Given the description of an element on the screen output the (x, y) to click on. 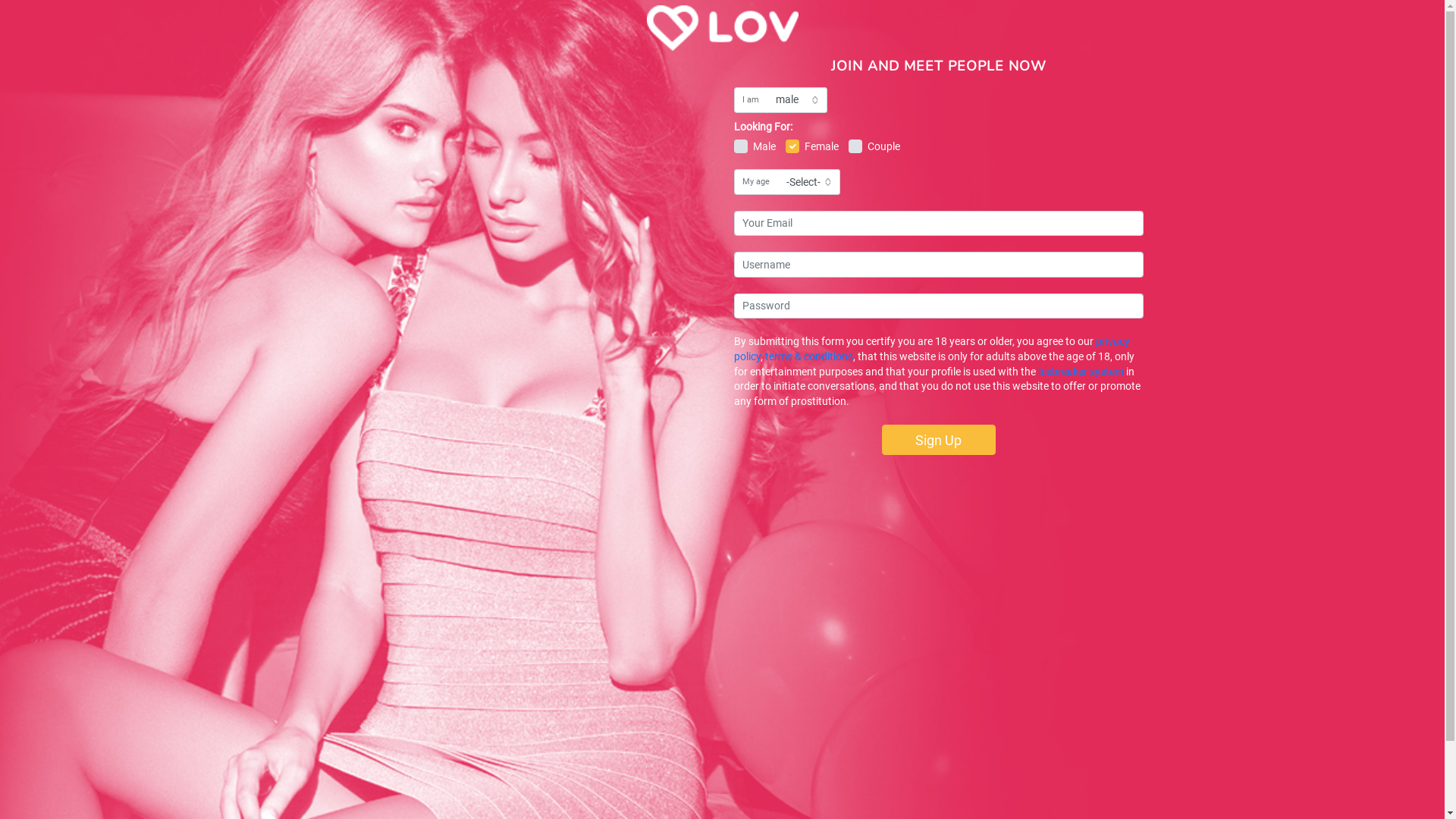
terms & conditions Element type: text (808, 356)
Icebreaker system Element type: text (1080, 371)
privacy policy Element type: text (931, 348)
Sign Up Element type: text (937, 439)
